Given the description of an element on the screen output the (x, y) to click on. 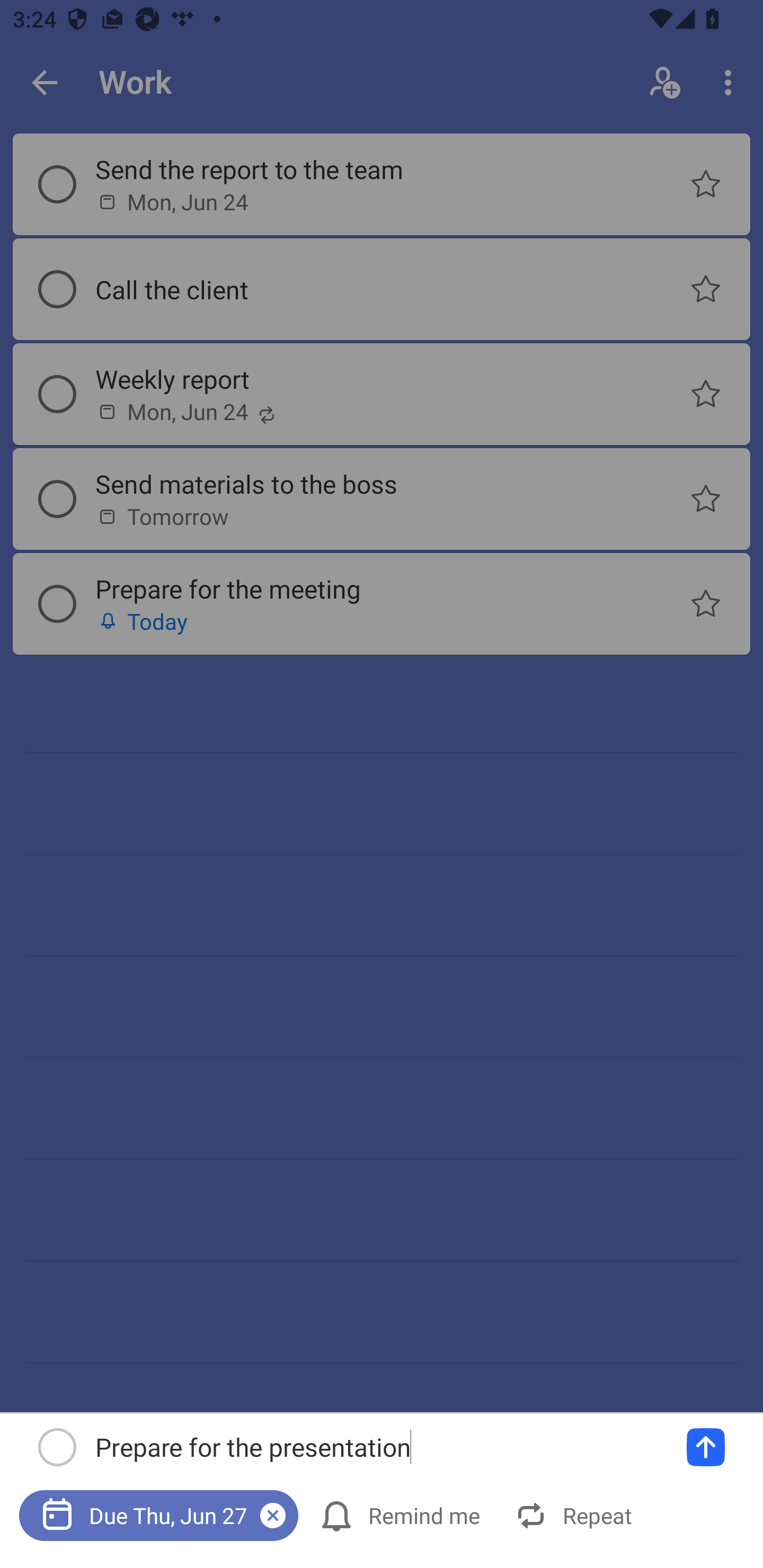
Add a task (705, 1446)
